Given the description of an element on the screen output the (x, y) to click on. 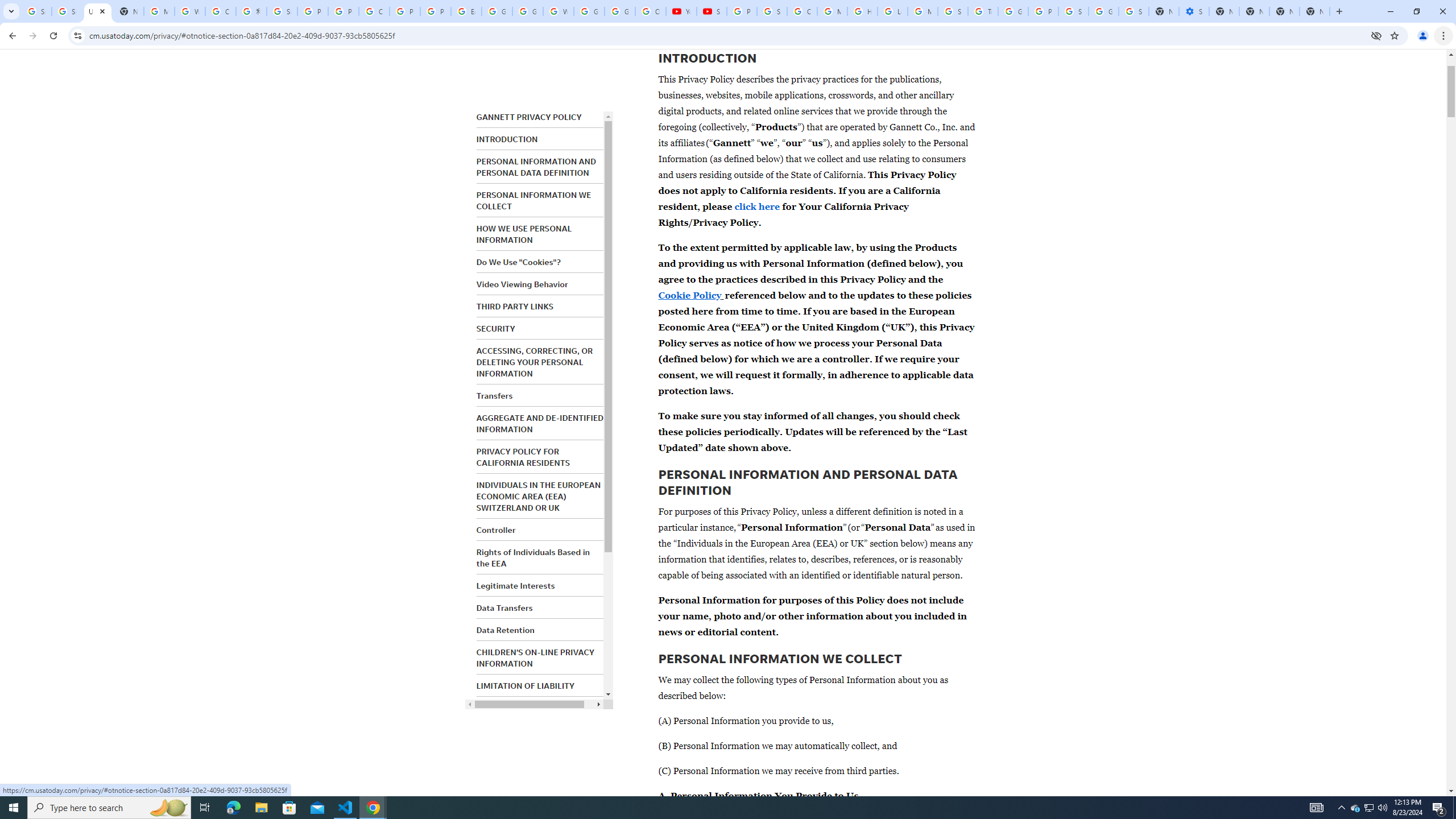
HOW WE USE PERSONAL INFORMATION (524, 233)
Video Viewing Behavior (521, 284)
Sign in - Google Accounts (36, 11)
